Given the description of an element on the screen output the (x, y) to click on. 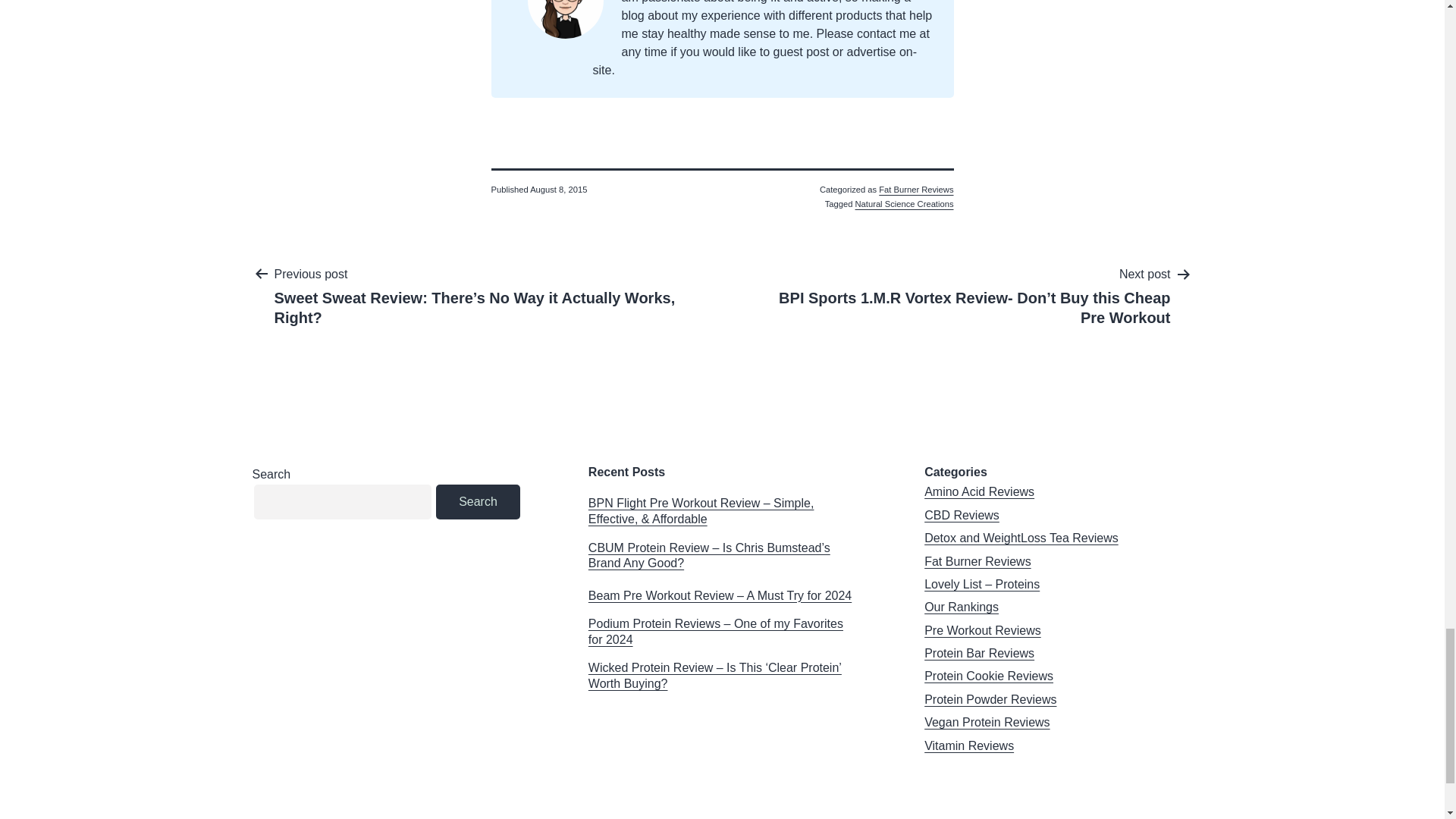
Natural Science Creations (904, 203)
Search (477, 501)
Fat Burner Reviews (916, 189)
Allie Lewis (565, 2)
